Given the description of an element on the screen output the (x, y) to click on. 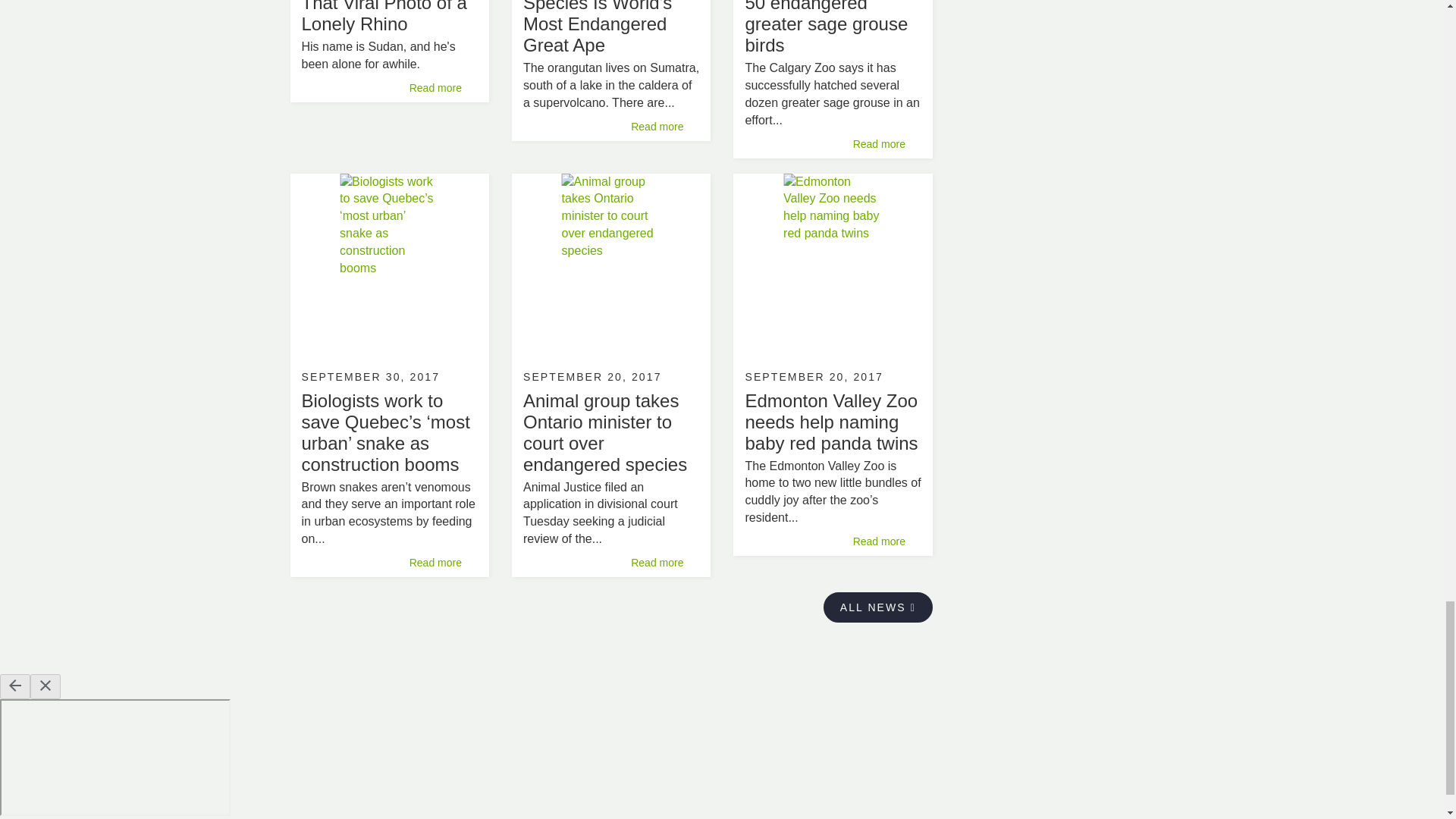
The Story Behind That Viral Photo of a Lonely Rhino (384, 17)
Calgary Zoo hatches 50 endangered greater sage grouse birds (828, 27)
New Orangutan Species Is World's Most Endangered Great Ape (596, 27)
